Given the description of an element on the screen output the (x, y) to click on. 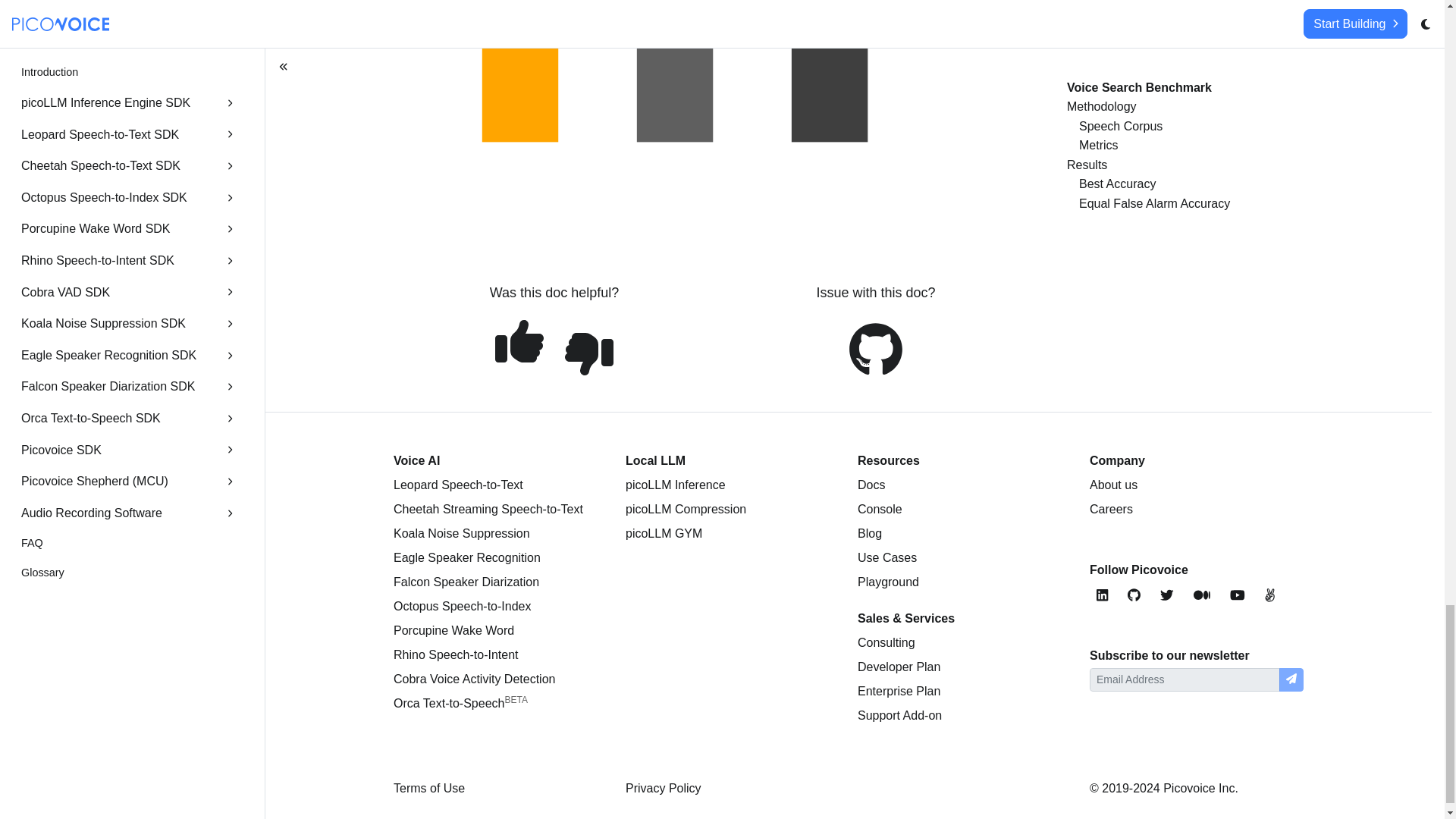
Helpful (519, 340)
Report a GitHub Issue (875, 349)
Not helpful (588, 354)
